Given the description of an element on the screen output the (x, y) to click on. 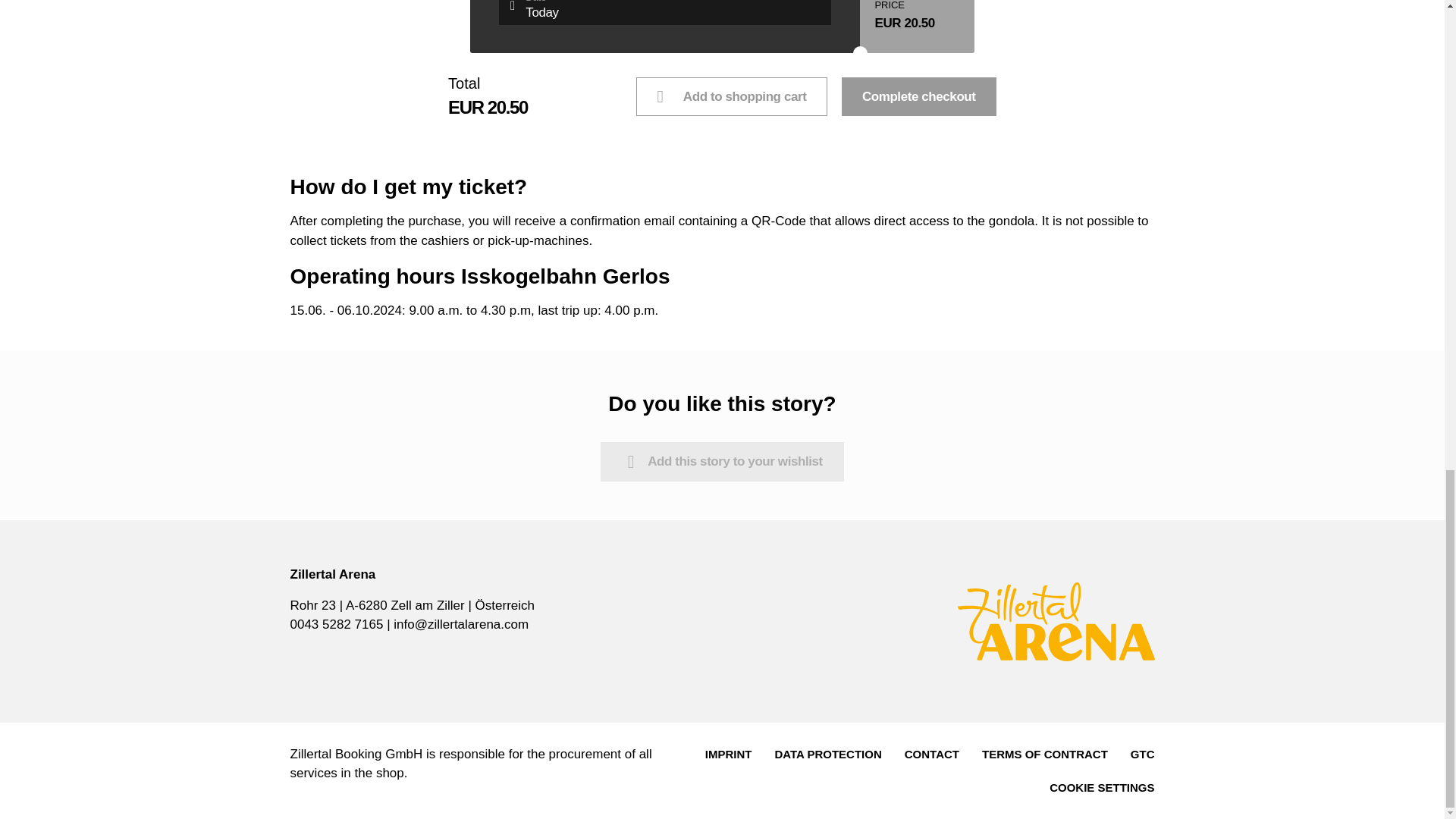
Add this story to your wishlist (721, 461)
Add to shopping cart (731, 96)
Complete checkout (918, 96)
